Given the description of an element on the screen output the (x, y) to click on. 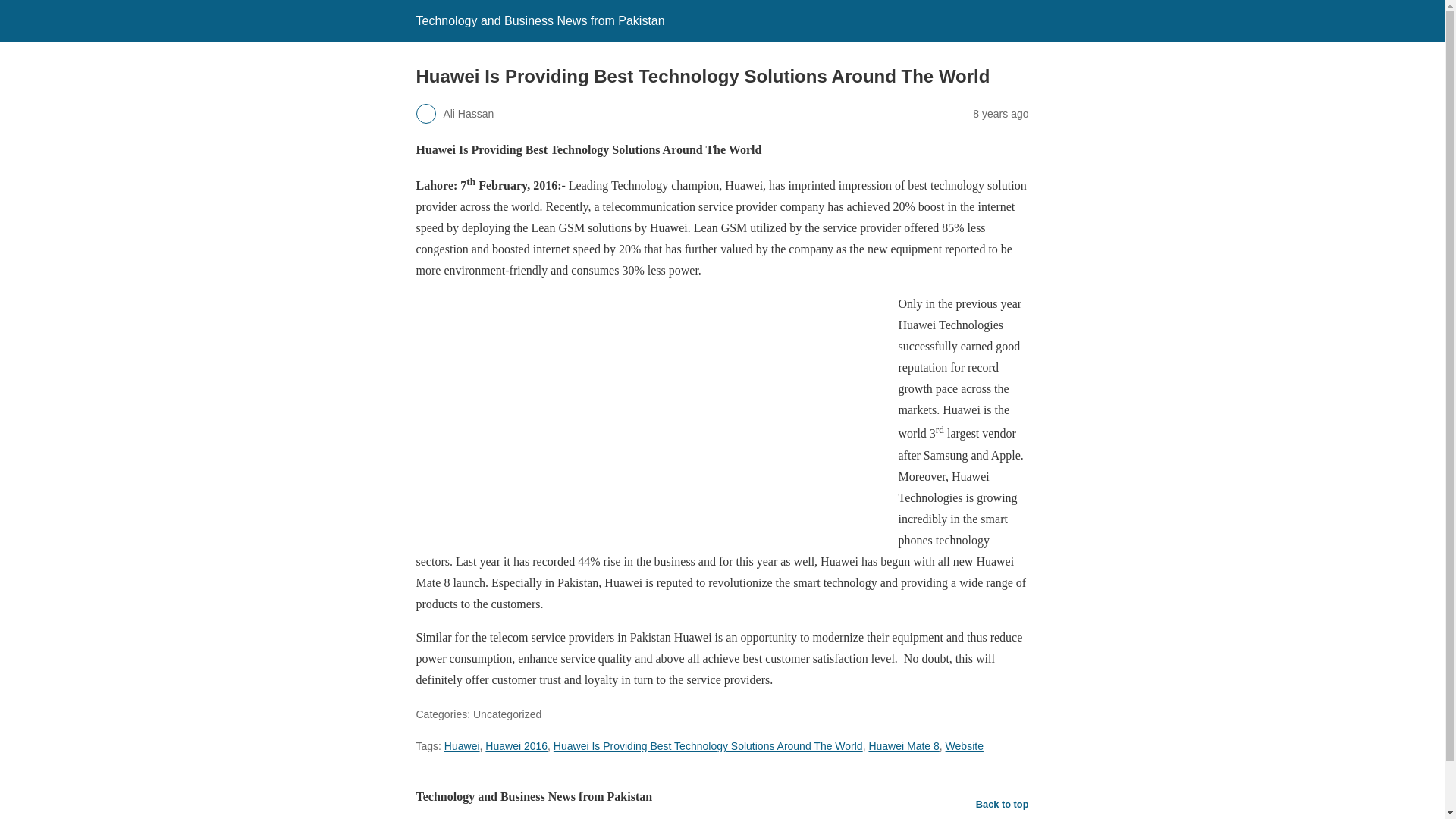
Website (964, 746)
Huawei (462, 746)
Huawei Mate 8 (903, 746)
Back to top (1002, 804)
Huawei 2016 (515, 746)
Technology and Business News from Pakistan (538, 20)
